Given the description of an element on the screen output the (x, y) to click on. 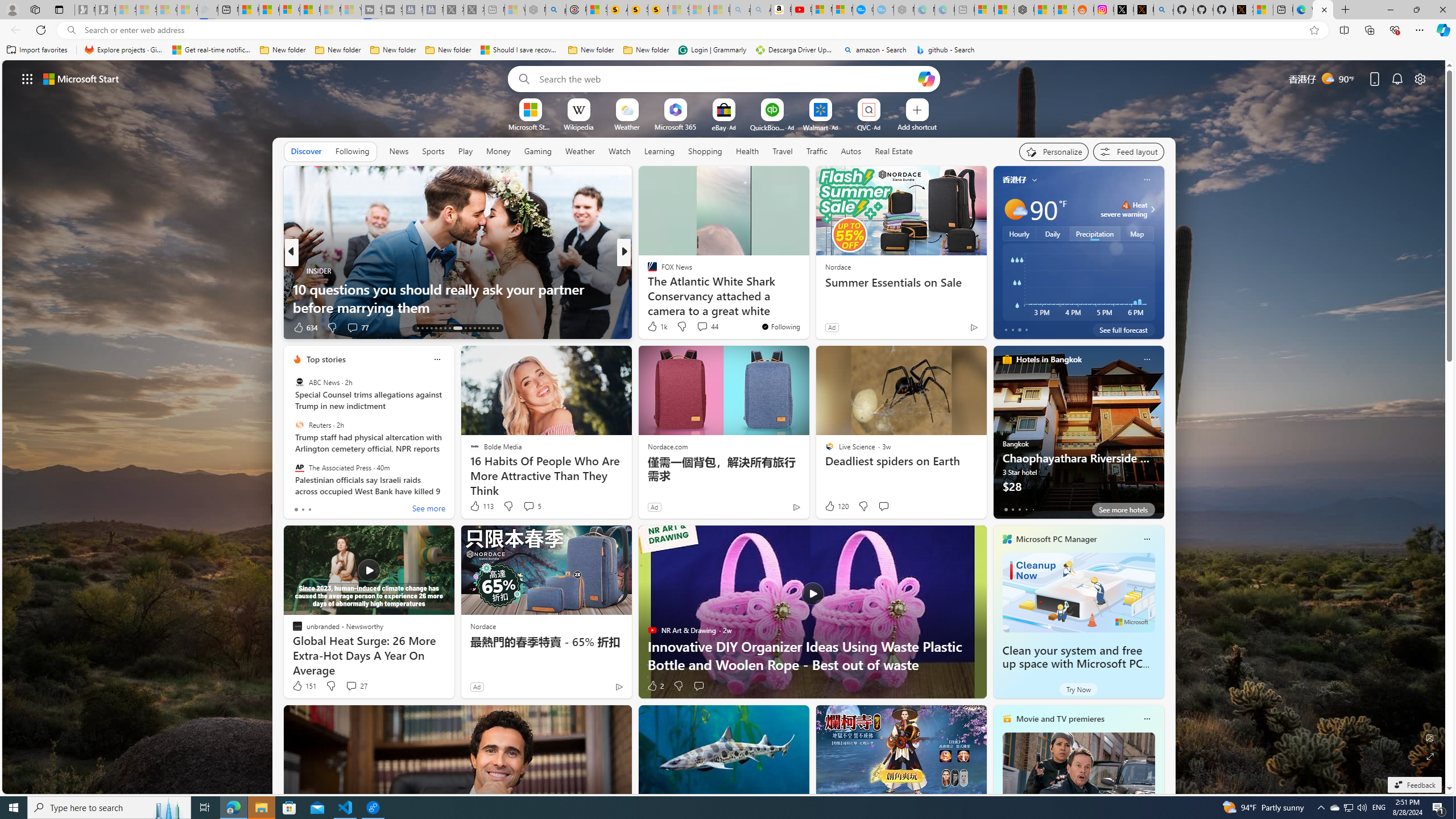
View comments 191 Comment (6, 327)
Class: icon-img (1146, 718)
Newsletter Sign Up - Sleeping (105, 9)
amazon - Search - Sleeping (740, 9)
The Kanso (647, 270)
Click to see more information (1150, 208)
See more hotels (1123, 509)
120 Like (835, 505)
